Given the description of an element on the screen output the (x, y) to click on. 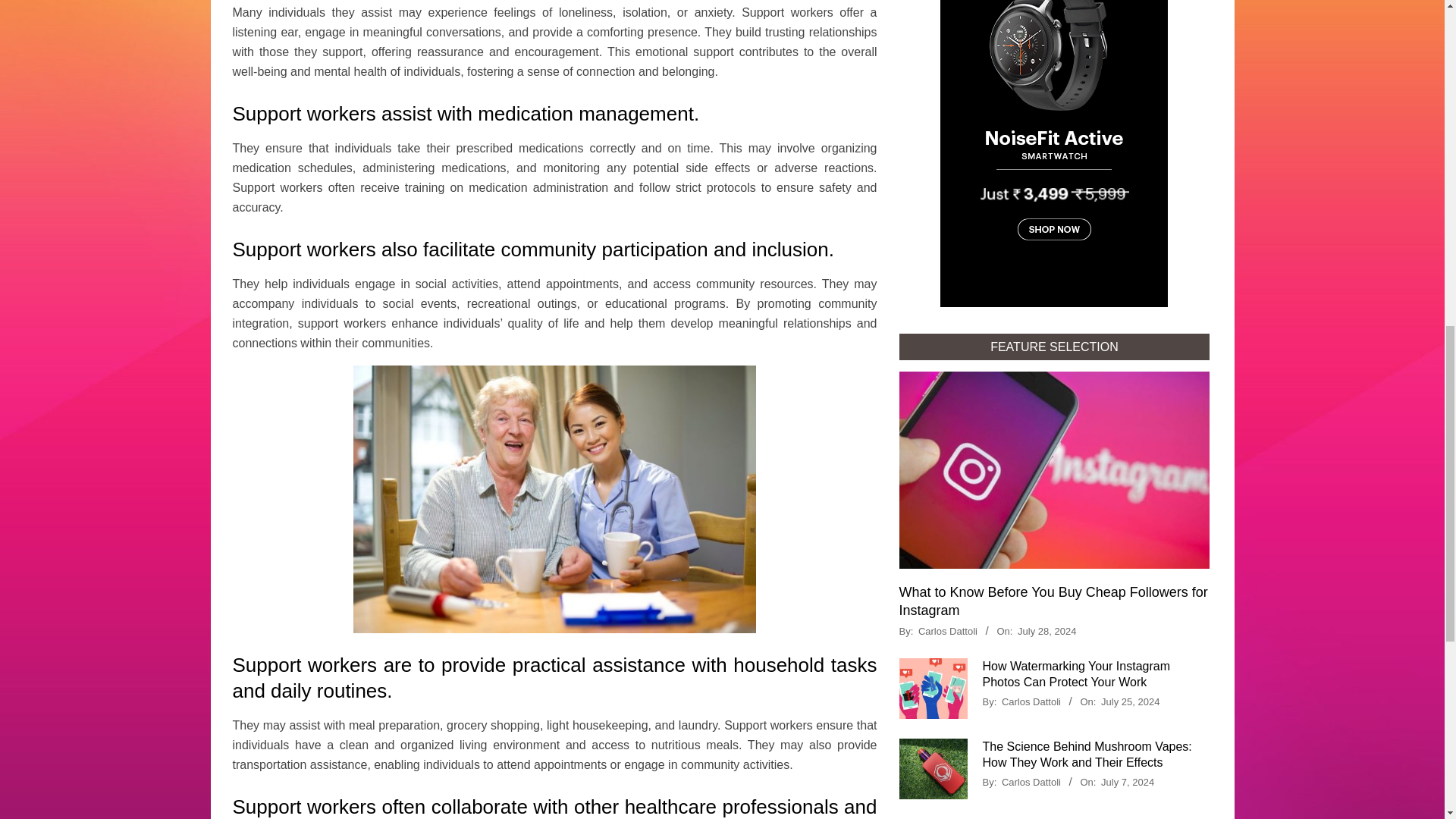
Carlos Dattoli (947, 631)
Thursday, July 25, 2024, 6:22 am (1129, 701)
What to Know Before You Buy Cheap Followers for Instagram (1053, 601)
Sunday, July 28, 2024, 12:22 pm (1046, 631)
Posts by Carlos Dattoli (1031, 701)
How Watermarking Your Instagram Photos Can Protect Your Work (1076, 674)
Carlos Dattoli (1031, 701)
Sunday, July 7, 2024, 7:55 am (1127, 781)
Posts by Carlos Dattoli (947, 631)
